Given the description of an element on the screen output the (x, y) to click on. 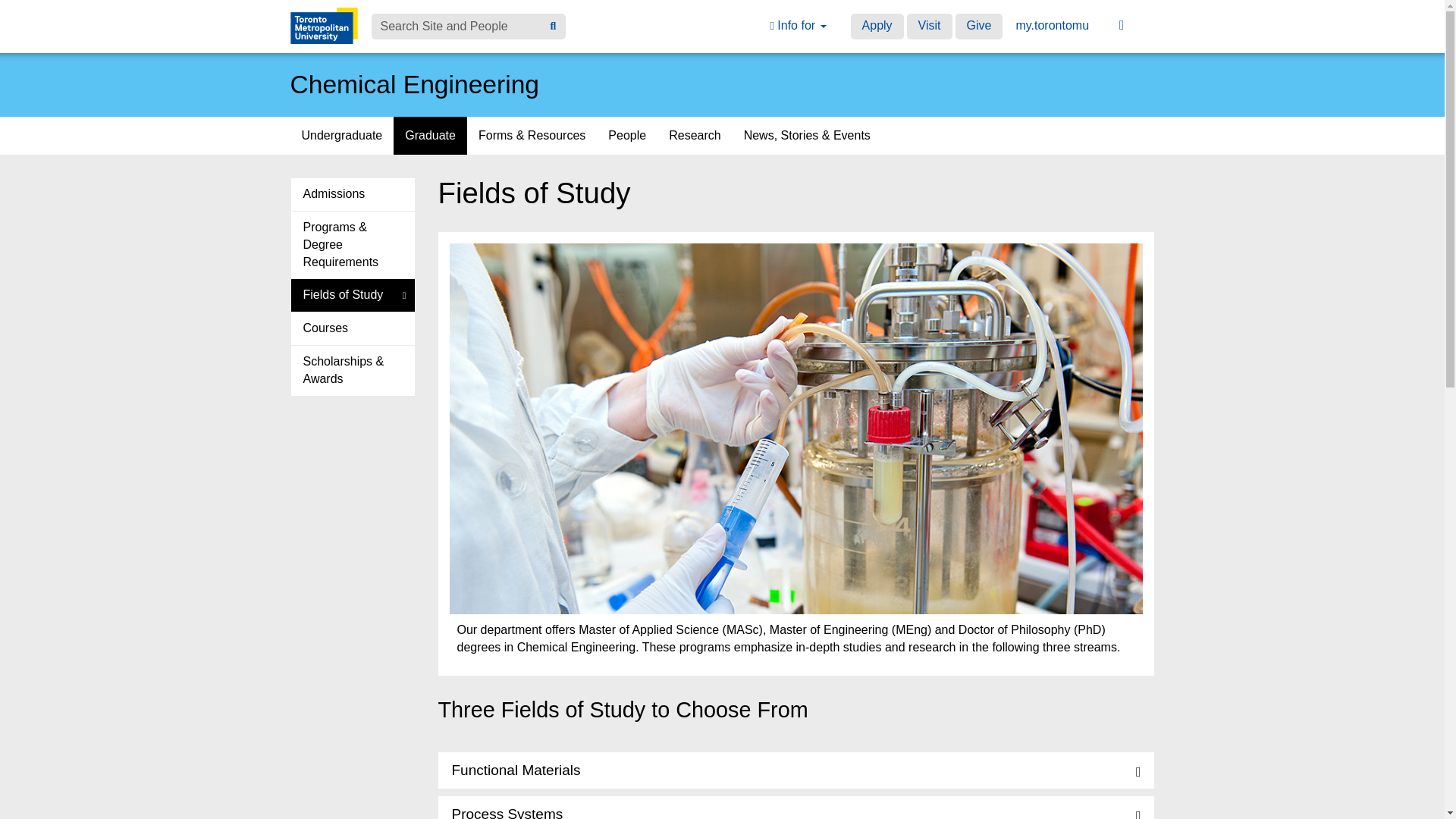
Toronto Metropolitan University (322, 25)
Menu (1121, 26)
Info for (797, 26)
Search Torontomu.ca (553, 26)
Give (979, 26)
Visit (929, 26)
Chemical Engineering (413, 84)
Apply (877, 26)
my.torontomu (1052, 26)
